Given the description of an element on the screen output the (x, y) to click on. 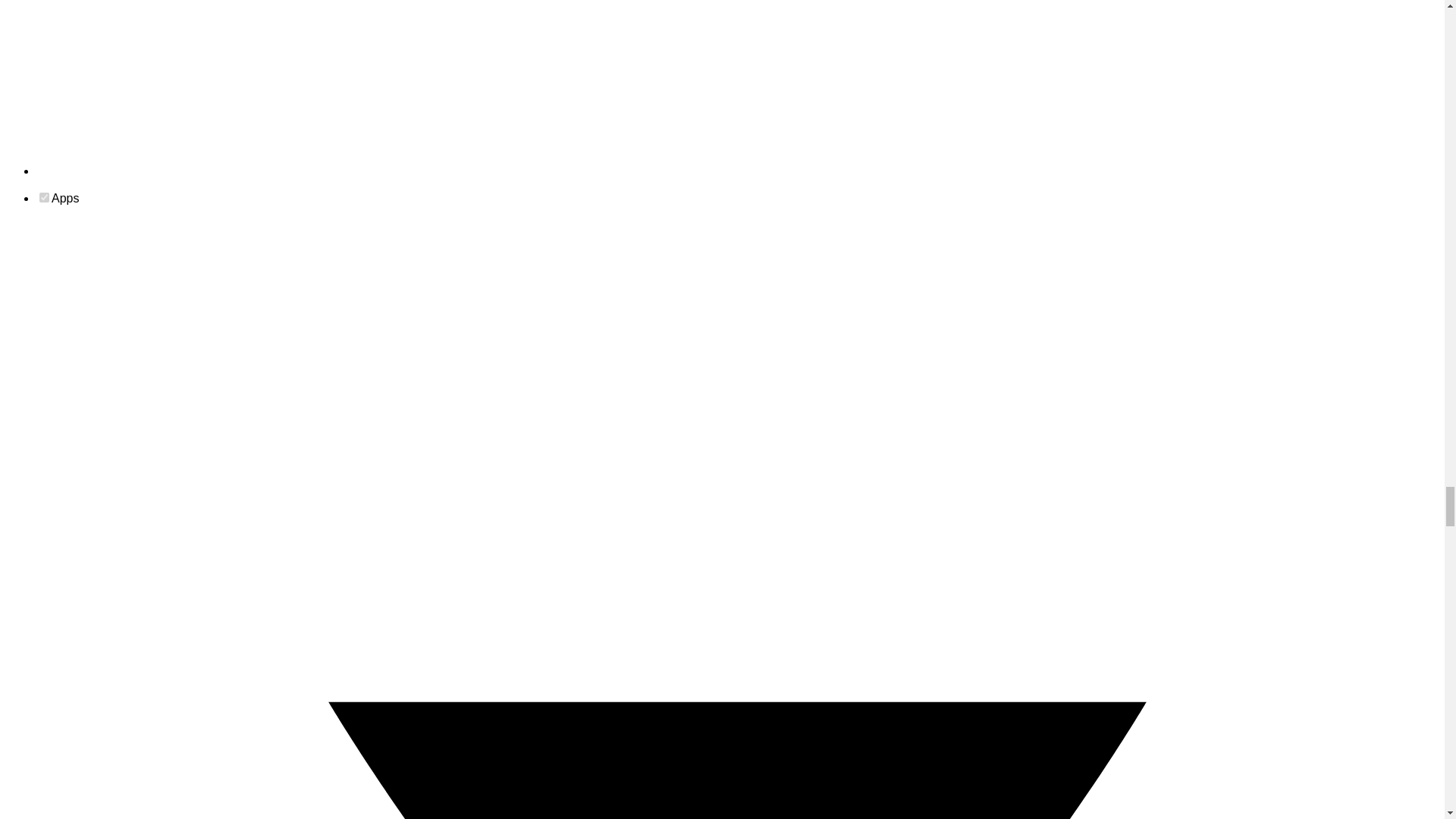
on (44, 197)
